Given the description of an element on the screen output the (x, y) to click on. 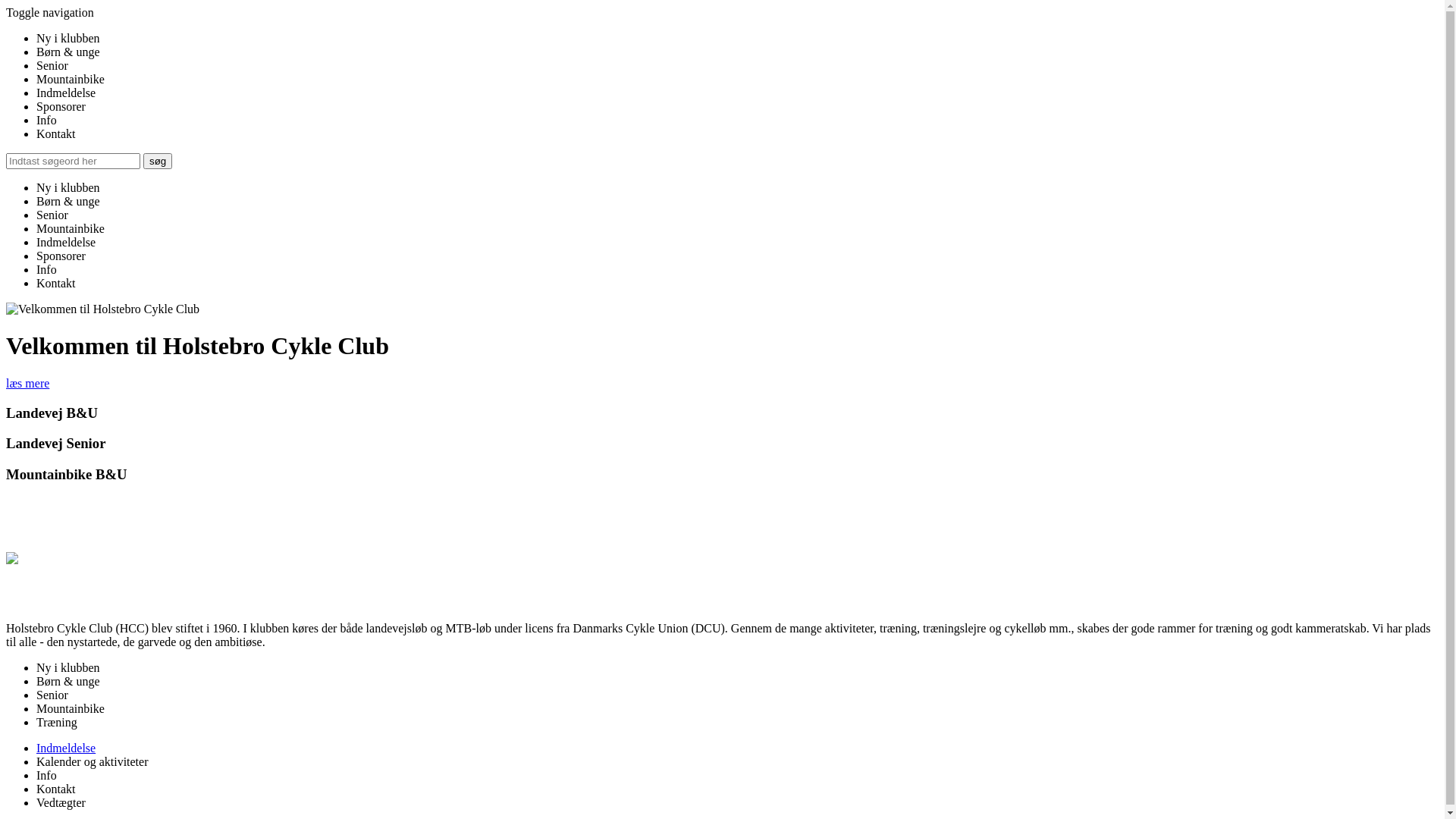
Ny i klubben Element type: text (68, 667)
Ny i klubben Element type: text (68, 187)
Senior Element type: text (52, 65)
Kalender og aktiviteter Element type: text (92, 761)
Sponsorer Element type: text (60, 106)
Mountainbike Element type: text (70, 708)
Sponsorer Element type: text (60, 255)
Info Element type: text (46, 269)
Mountainbike Element type: text (70, 228)
Senior Element type: text (52, 214)
Indmeldelse Element type: text (65, 92)
Kontakt Element type: text (55, 788)
Kontakt Element type: text (55, 133)
Indmeldelse Element type: text (65, 241)
Mountainbike Element type: text (70, 78)
Info Element type: text (46, 774)
Kontakt Element type: text (55, 282)
Ny i klubben Element type: text (68, 37)
Senior Element type: text (52, 694)
Indmeldelse Element type: text (65, 747)
Info Element type: text (46, 119)
